Given the description of an element on the screen output the (x, y) to click on. 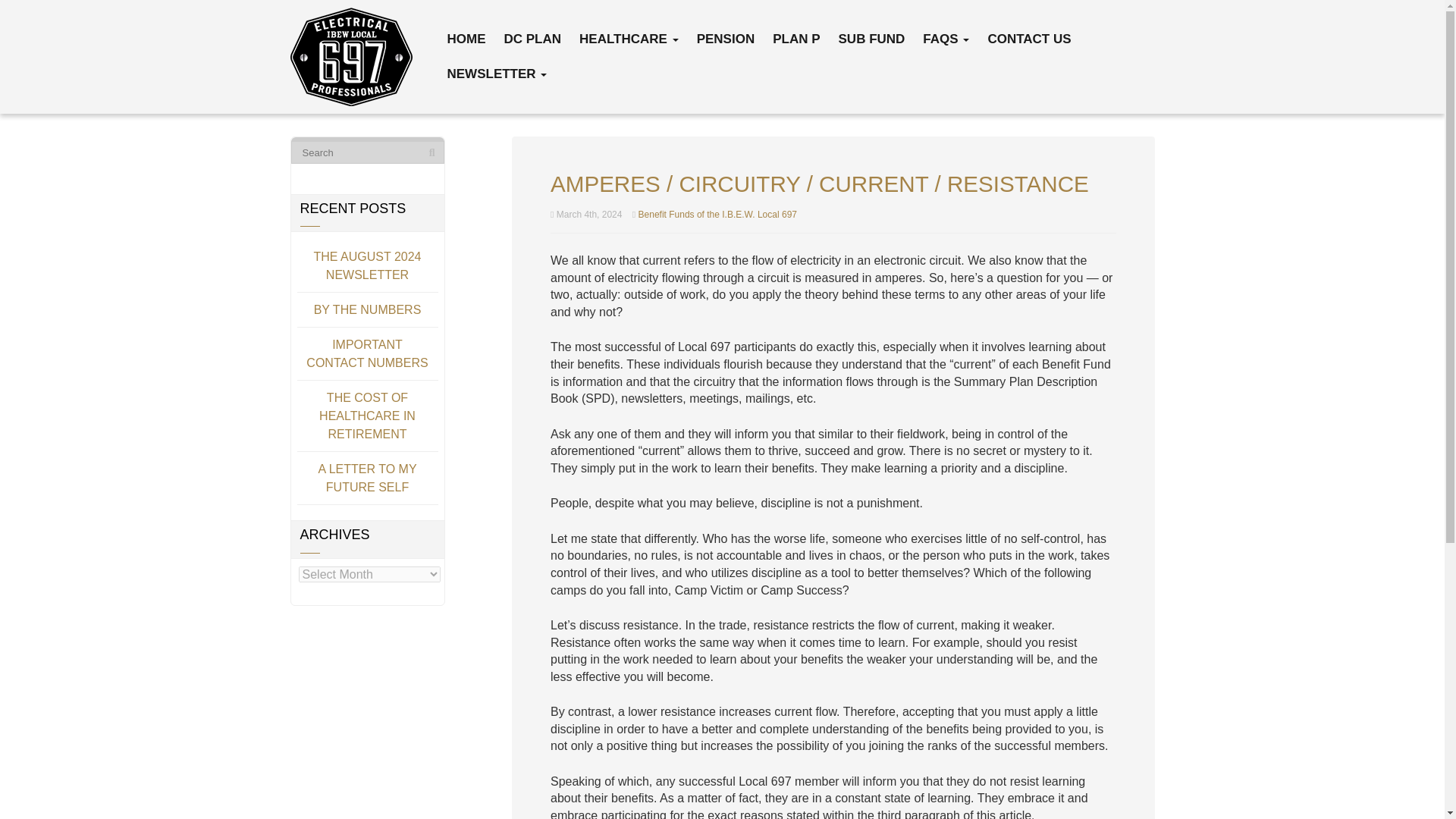
PLAN P (796, 38)
HEALTHCARE (628, 38)
DC PLAN (533, 38)
CONTACT US (1029, 38)
SUB FUND (871, 38)
HOME (465, 38)
Posts by Benefit Funds of the I.B.E.W. Local 697 (717, 214)
FAQS (945, 38)
PENSION (725, 38)
NEWSLETTER (496, 74)
